Given the description of an element on the screen output the (x, y) to click on. 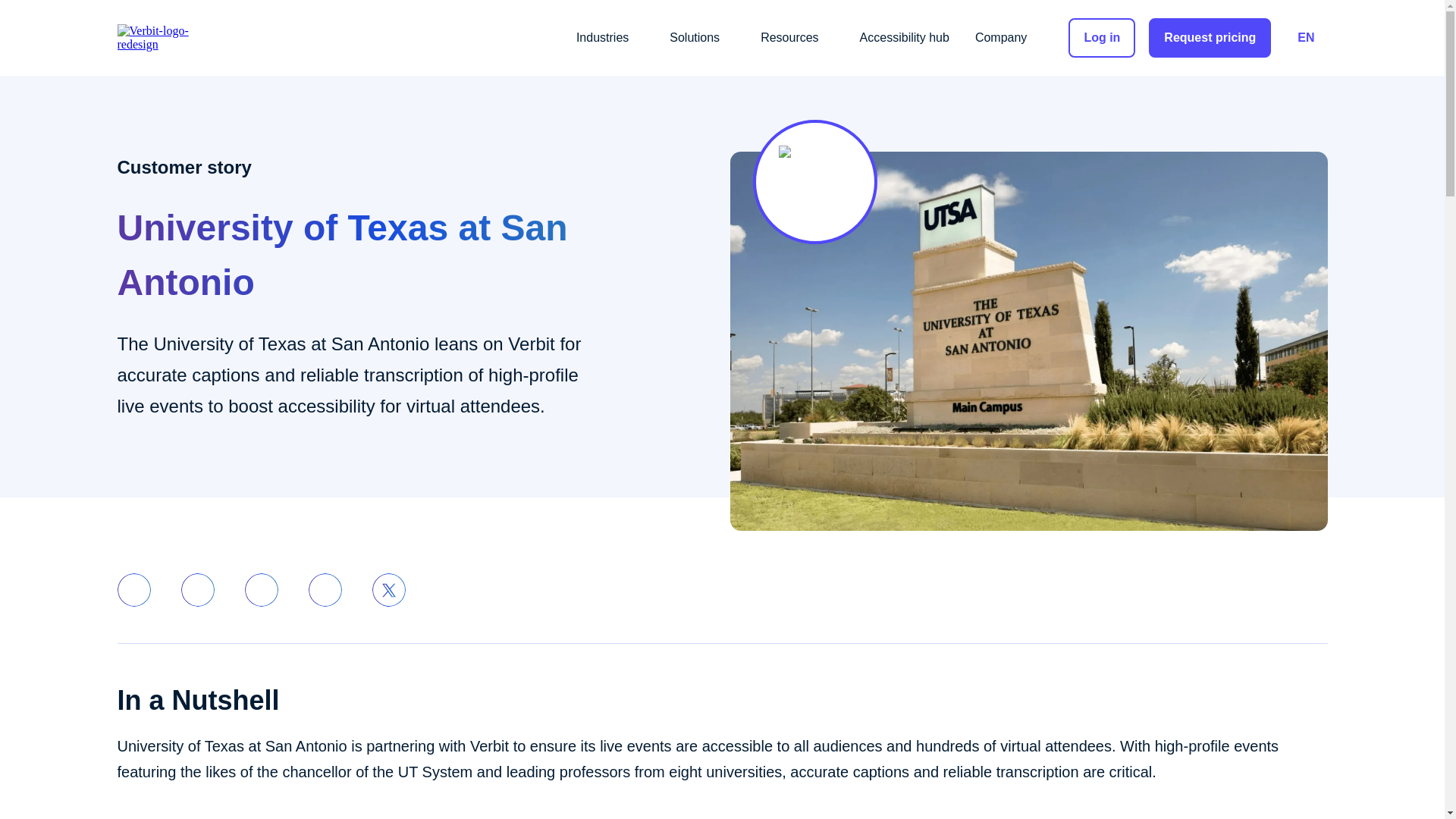
Page 1 (721, 758)
Resources (796, 37)
Log in (1101, 37)
Company (1008, 37)
Industries (609, 37)
EN (1305, 37)
Request pricing (1209, 37)
Accessibility hub (904, 37)
Solutions (702, 37)
